Given the description of an element on the screen output the (x, y) to click on. 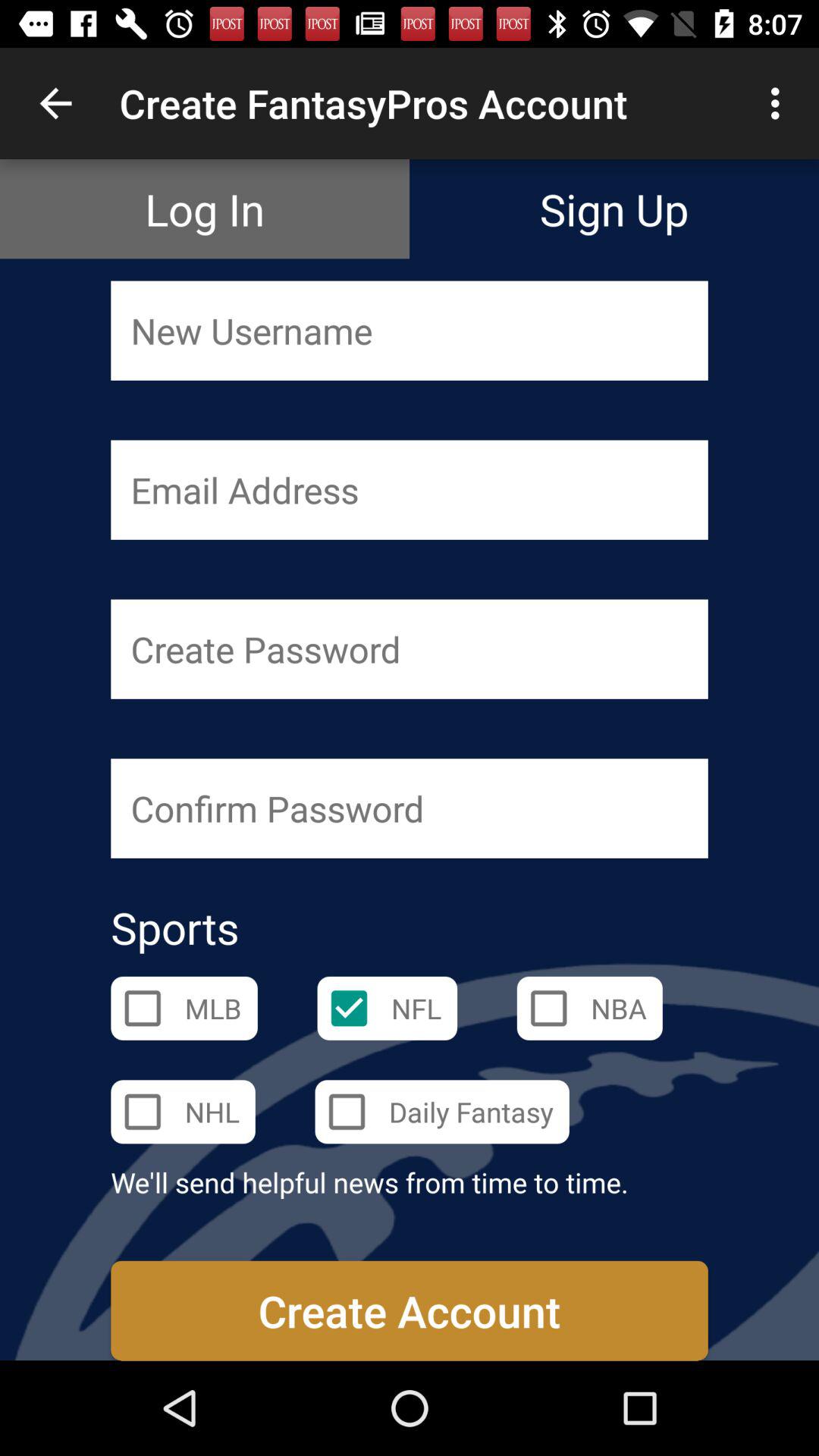
open the log in (204, 208)
